Given the description of an element on the screen output the (x, y) to click on. 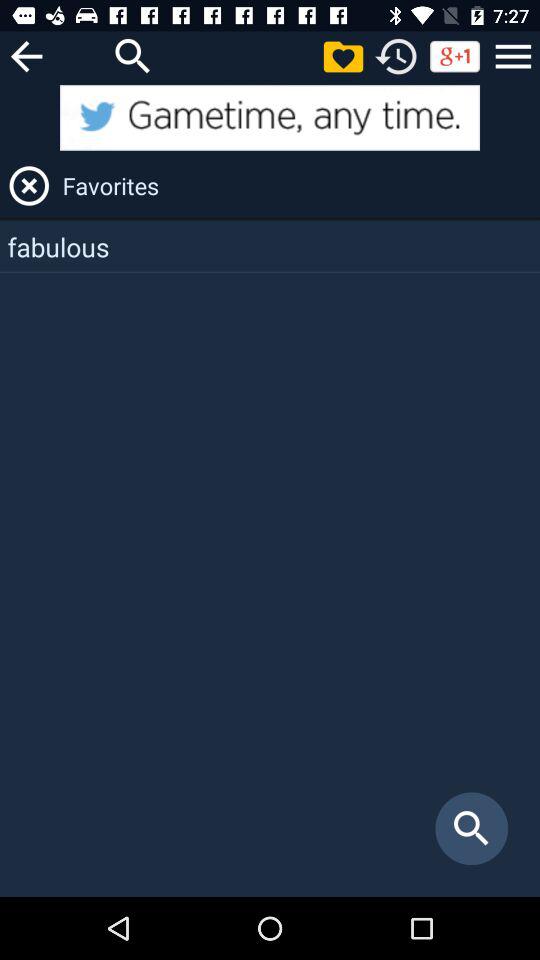
search app (133, 56)
